Given the description of an element on the screen output the (x, y) to click on. 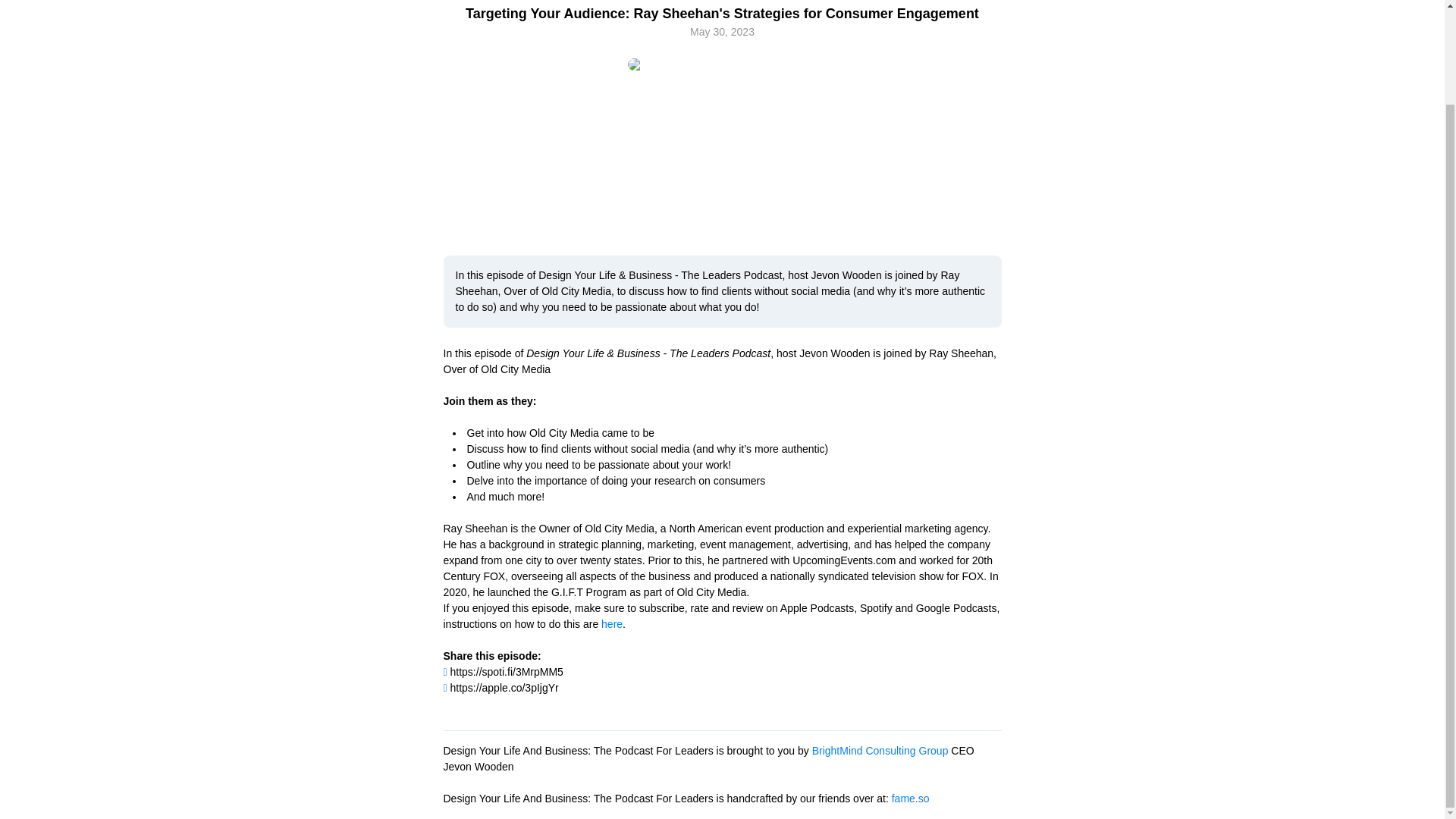
here (612, 623)
BrightMind Consulting Group (880, 750)
fame.so (910, 798)
